Given the description of an element on the screen output the (x, y) to click on. 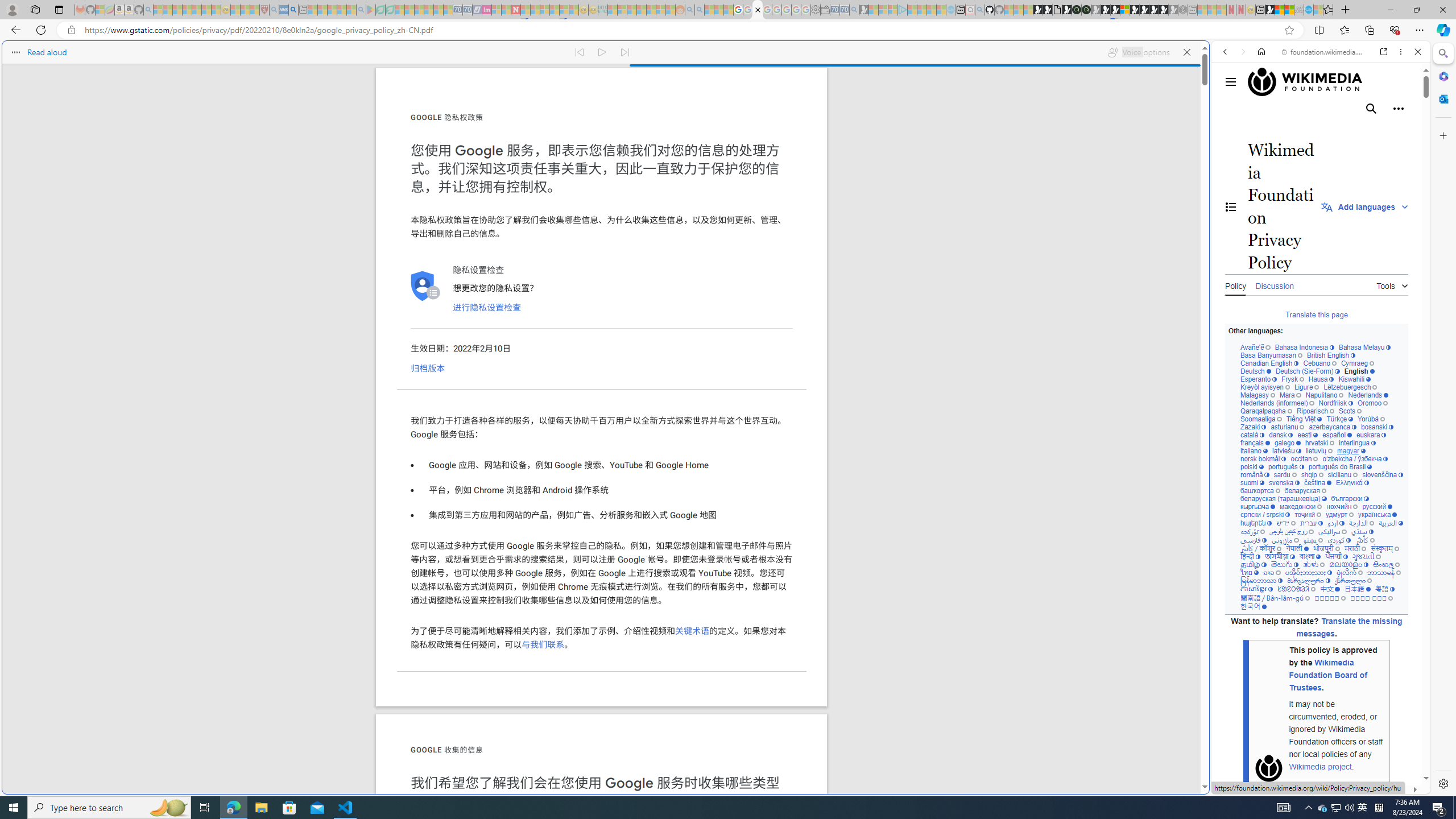
google - Search - Sleeping (360, 9)
Voice options (1138, 52)
github - Search - Sleeping (979, 9)
italiano (1254, 451)
